Given the description of an element on the screen output the (x, y) to click on. 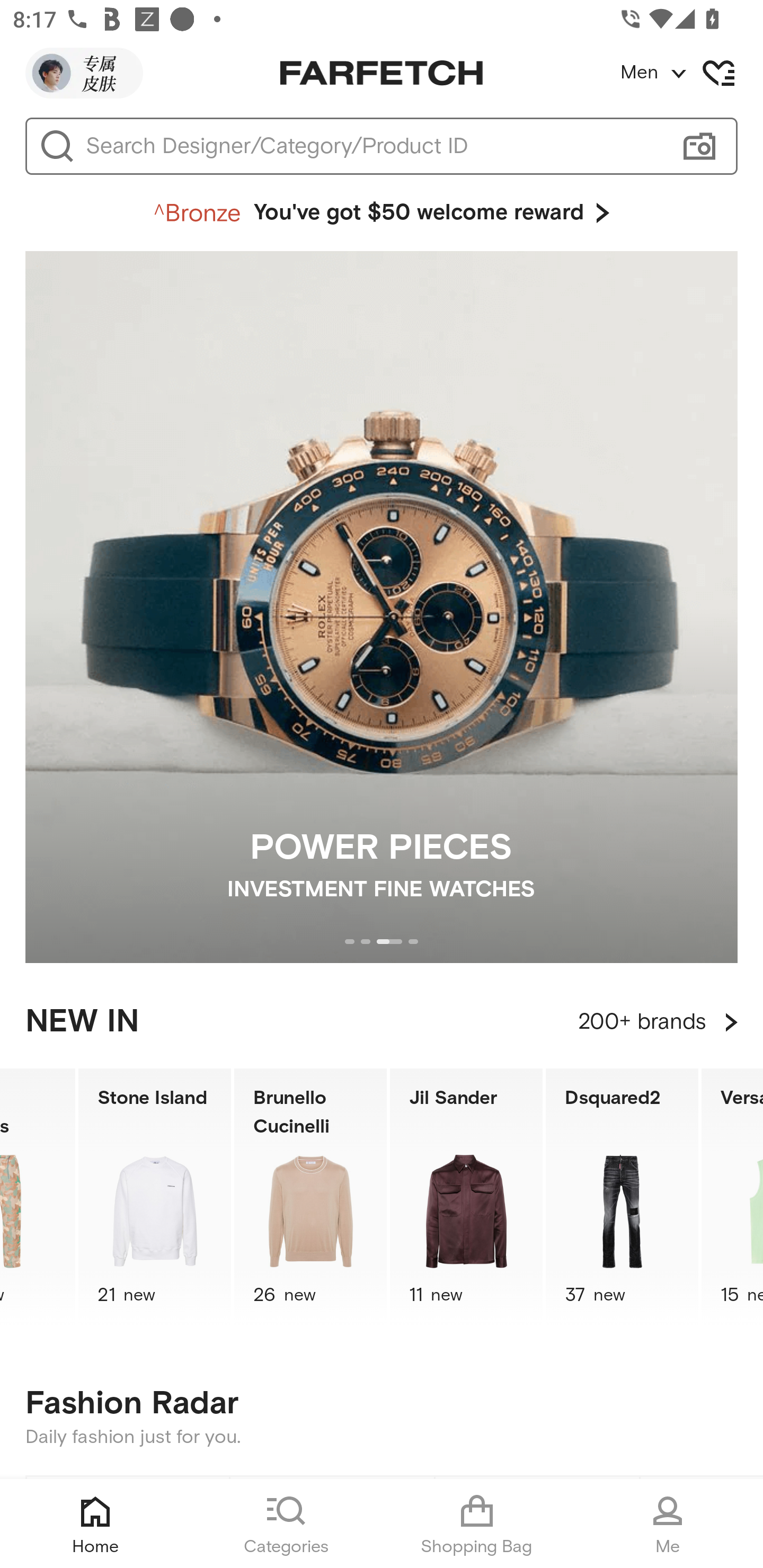
Men (691, 72)
Search Designer/Category/Product ID (373, 146)
You've got $50 welcome reward (381, 213)
NEW IN 200+ brands (381, 1021)
Stone Island 21  new (154, 1196)
Brunello Cucinelli 26  new (310, 1196)
Jil Sander 11  new (465, 1196)
Dsquared2 37  new (621, 1196)
Categories (285, 1523)
Shopping Bag (476, 1523)
Me (667, 1523)
